Given the description of an element on the screen output the (x, y) to click on. 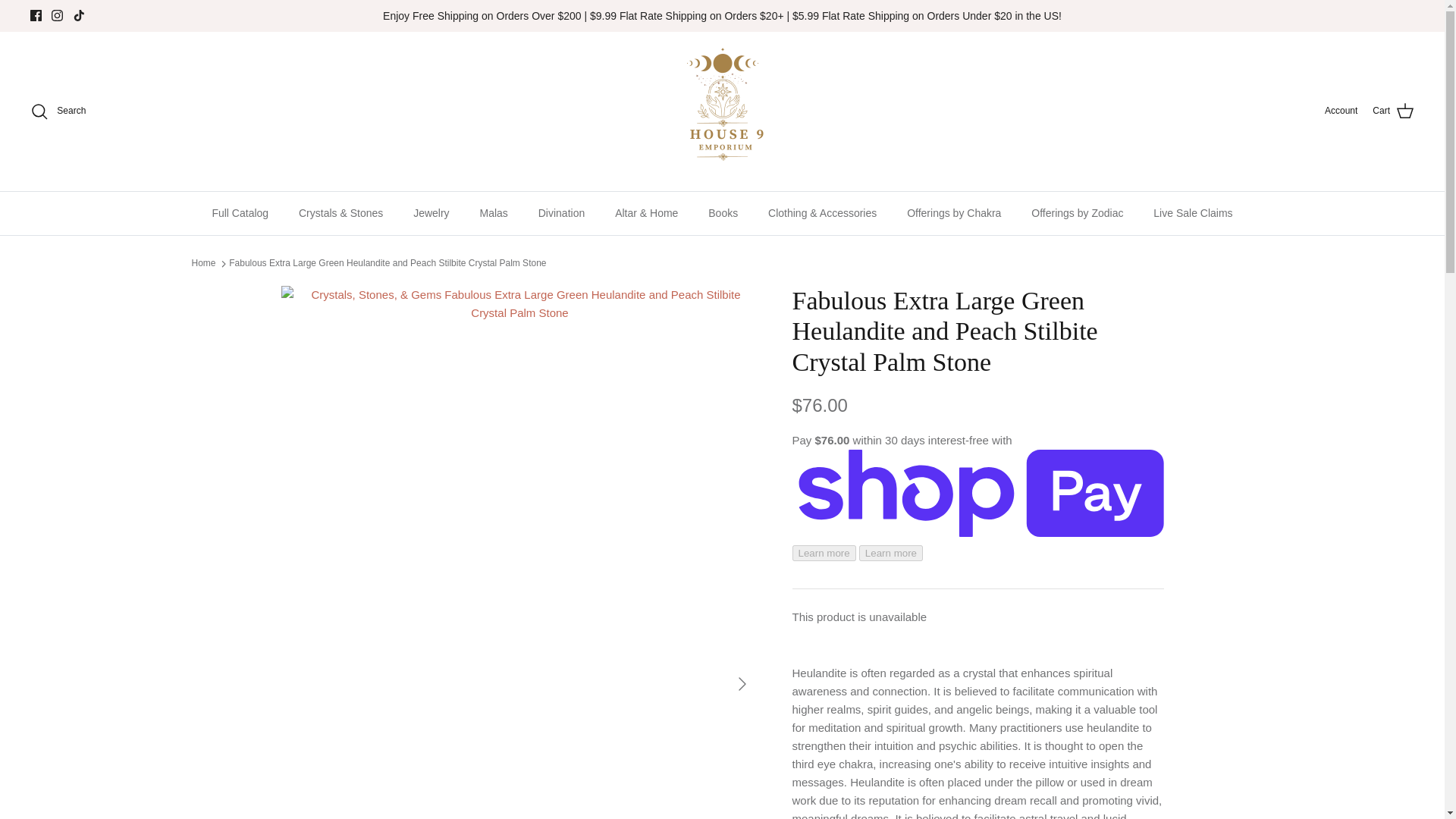
Facebook (36, 15)
Search (57, 111)
Full Catalog (240, 213)
Facebook (36, 15)
Account (1340, 110)
House 9 Emporium (722, 111)
Instagram (56, 15)
RIGHT (741, 683)
Cart (1393, 111)
Instagram (56, 15)
